Given the description of an element on the screen output the (x, y) to click on. 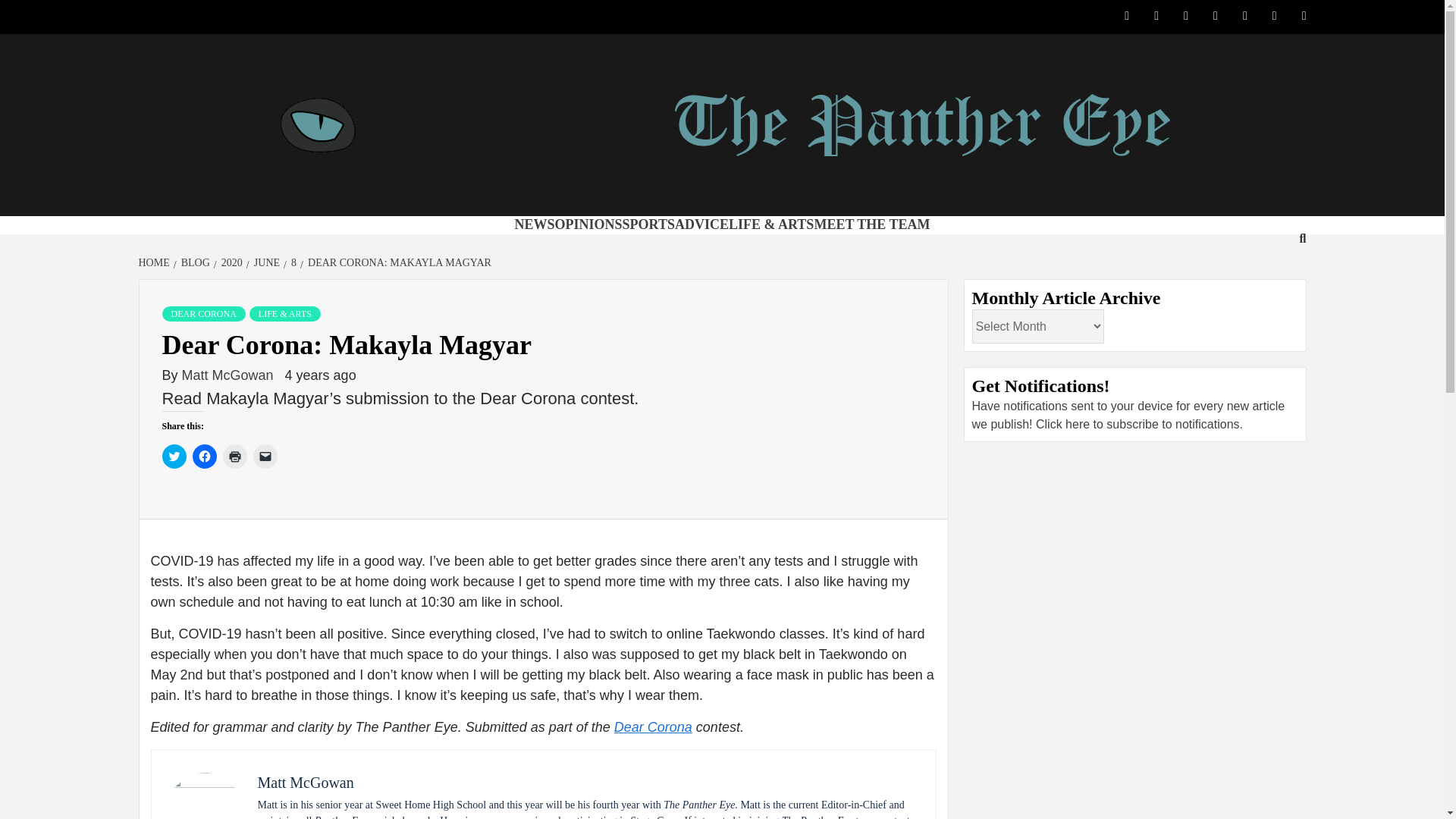
HOME (155, 262)
Click to share on Twitter (173, 456)
8 (291, 262)
DEAR CORONA: MAKAYLA MAGYAR (397, 262)
SPORTS (649, 224)
2020 (230, 262)
DEAR CORONA (203, 313)
Click to email a link to a friend (265, 456)
Dear Corona (653, 726)
BLOG (193, 262)
